Given the description of an element on the screen output the (x, y) to click on. 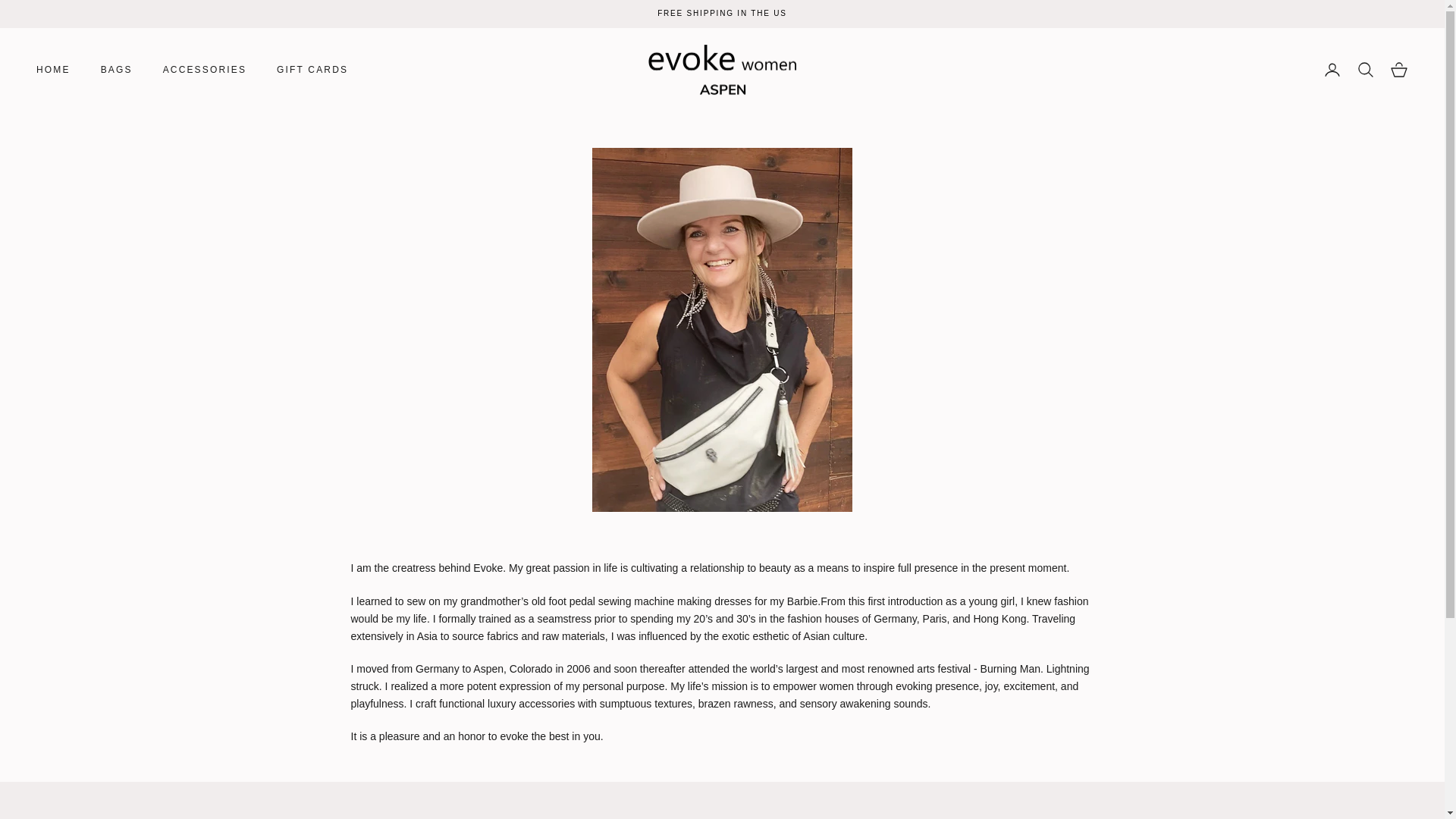
Open search (1365, 69)
Open cart (1398, 69)
Open account page (1331, 69)
HOME (52, 69)
EvokeWomen (721, 69)
GIFT CARDS (311, 69)
